Given the description of an element on the screen output the (x, y) to click on. 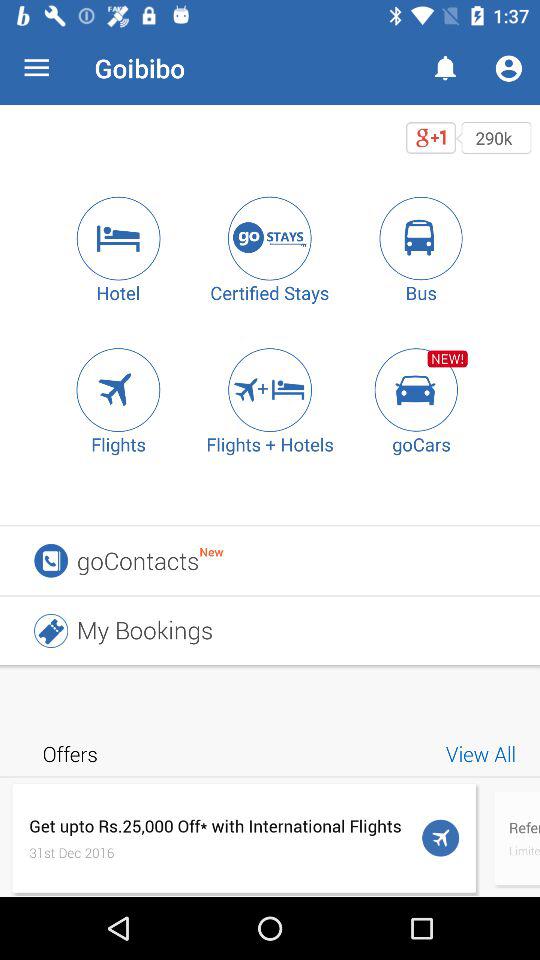
tap the item next to certified stays (118, 238)
